Given the description of an element on the screen output the (x, y) to click on. 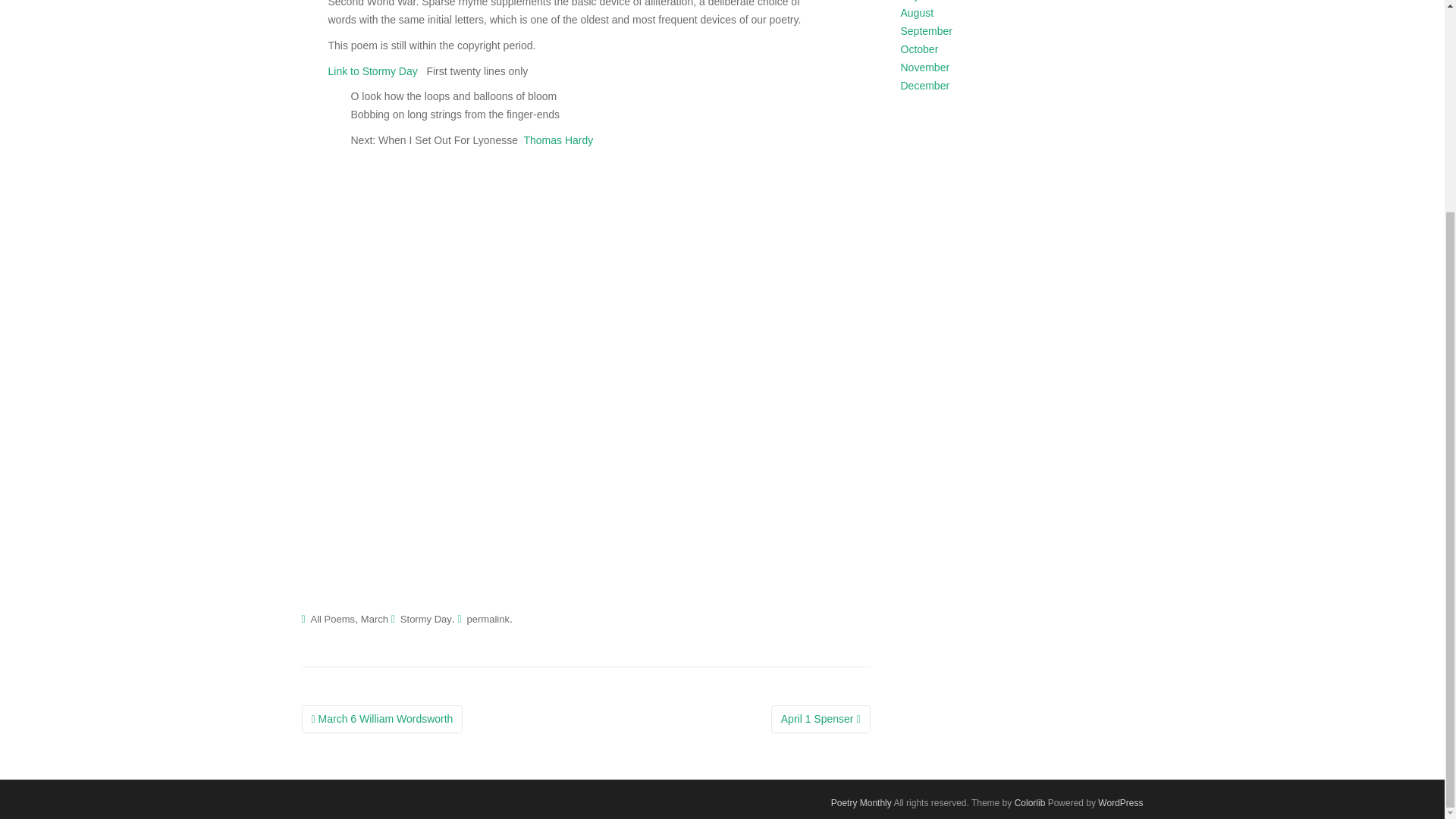
August (917, 12)
Stormy Day (425, 618)
WordPress (1119, 802)
March (374, 618)
October (920, 49)
Poetry Monthly (861, 802)
Poetry Monthly (861, 802)
November (925, 67)
April 1 Spenser (820, 719)
September (926, 30)
Thomas Hardy (557, 140)
All Poems (333, 618)
Colorlib (1029, 802)
December (925, 85)
